Given the description of an element on the screen output the (x, y) to click on. 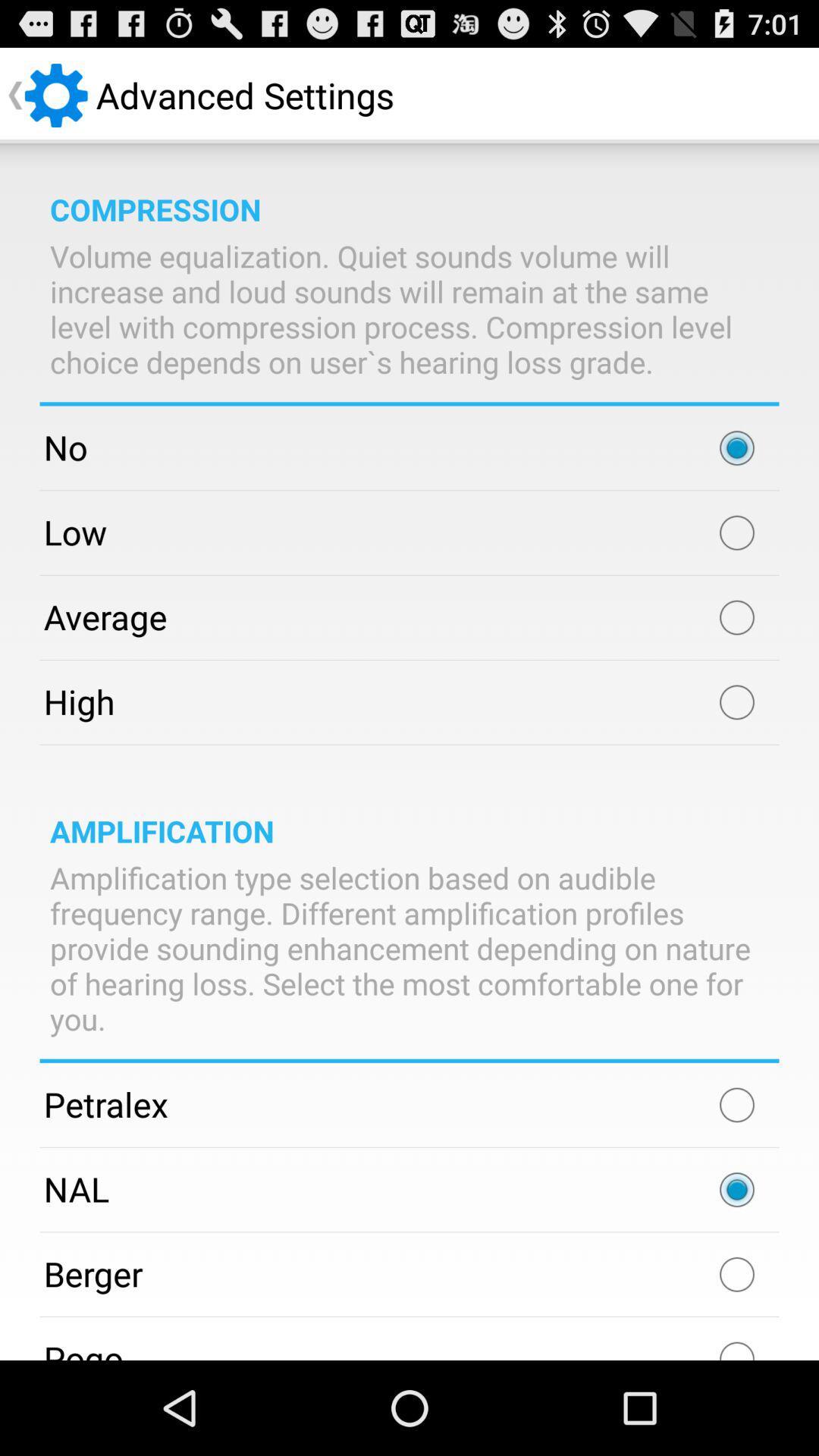
set amplification type to nal (736, 1189)
